Given the description of an element on the screen output the (x, y) to click on. 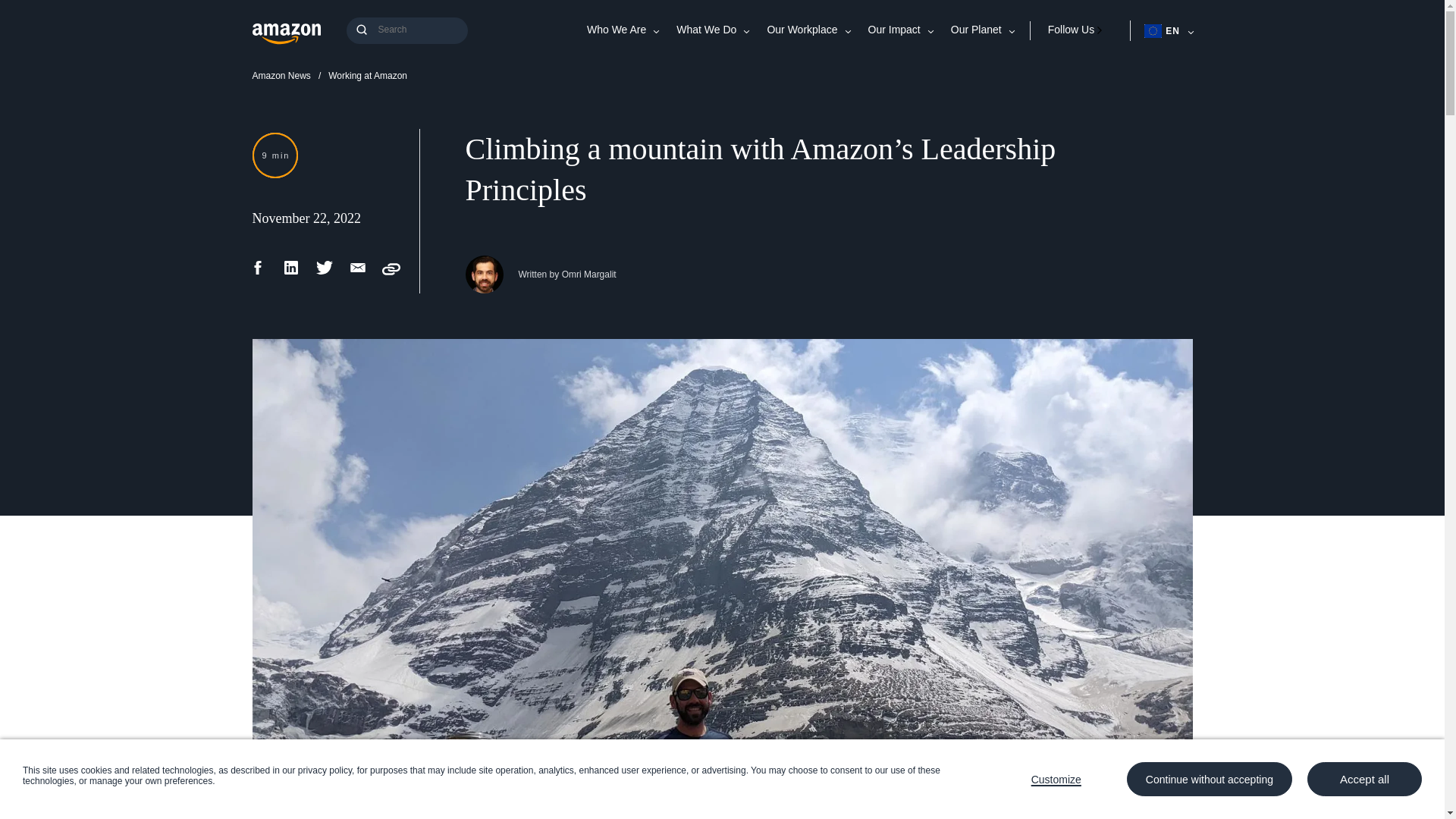
LinkedIn Share (290, 272)
Facebook Share (257, 272)
Twitter Share (324, 272)
Email Share (357, 272)
